Given the description of an element on the screen output the (x, y) to click on. 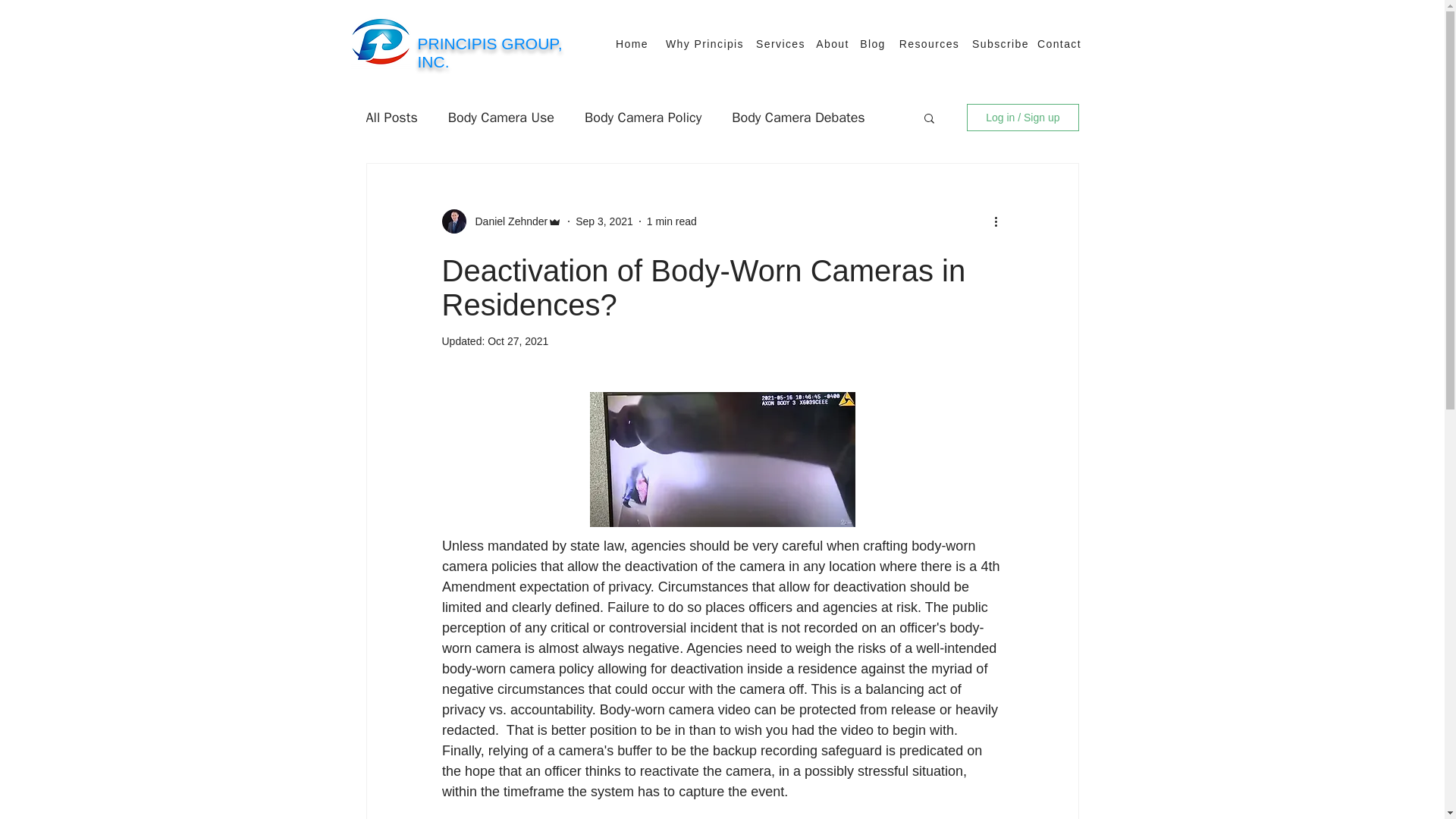
Subscribe (1002, 43)
Home (633, 43)
About (833, 43)
Sep 3, 2021 (604, 221)
1 min read (671, 221)
Services (782, 43)
Body Camera Debates (798, 117)
Body Camera Policy (643, 117)
Why Principis (705, 43)
All Posts (390, 117)
Resources (930, 43)
Oct 27, 2021 (517, 340)
Contact (1060, 43)
Blog (873, 43)
Body Camera Use (501, 117)
